Given the description of an element on the screen output the (x, y) to click on. 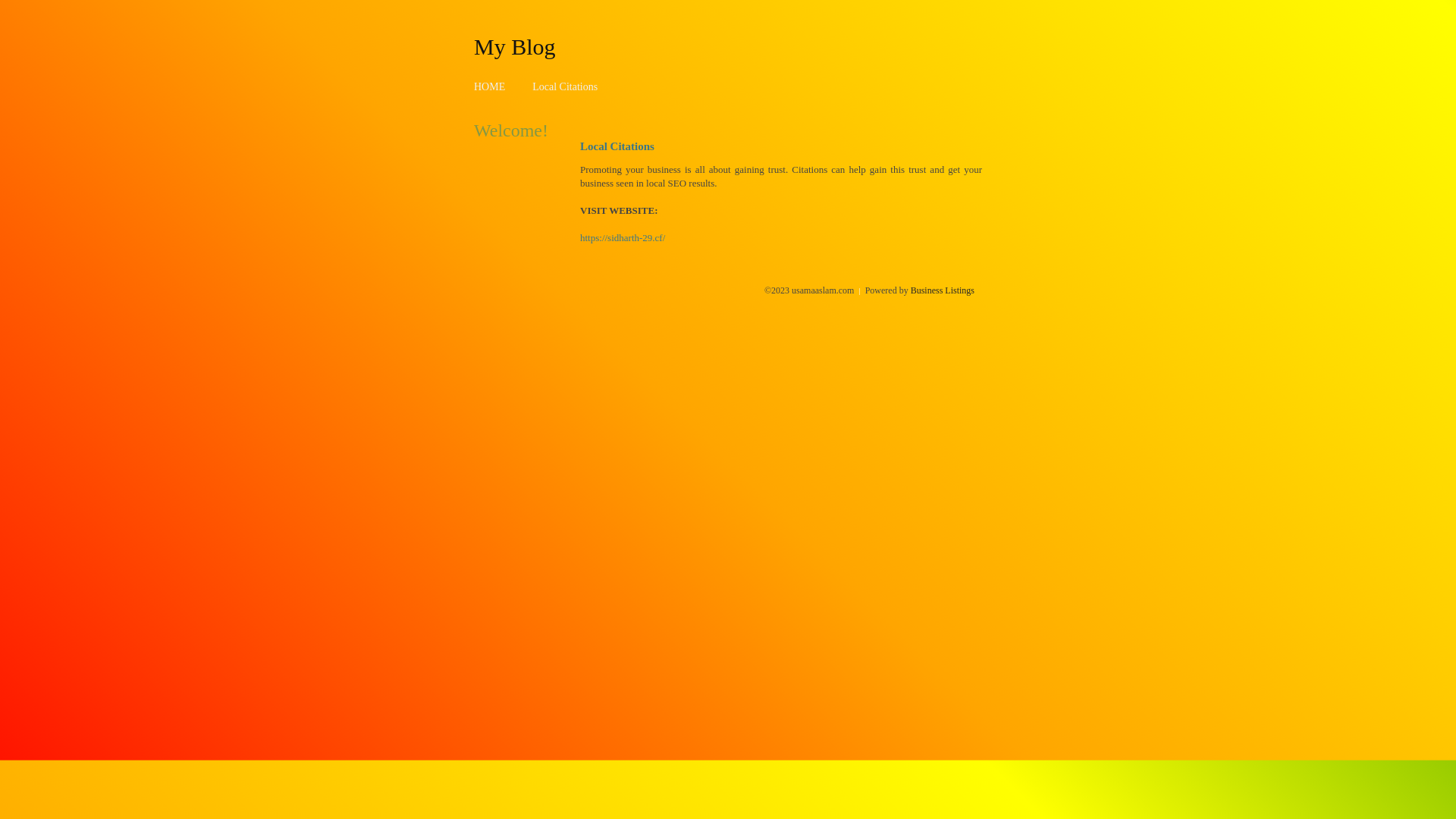
Local Citations Element type: text (564, 86)
My Blog Element type: text (514, 46)
HOME Element type: text (489, 86)
Business Listings Element type: text (942, 290)
https://sidharth-29.cf/ Element type: text (622, 237)
